Given the description of an element on the screen output the (x, y) to click on. 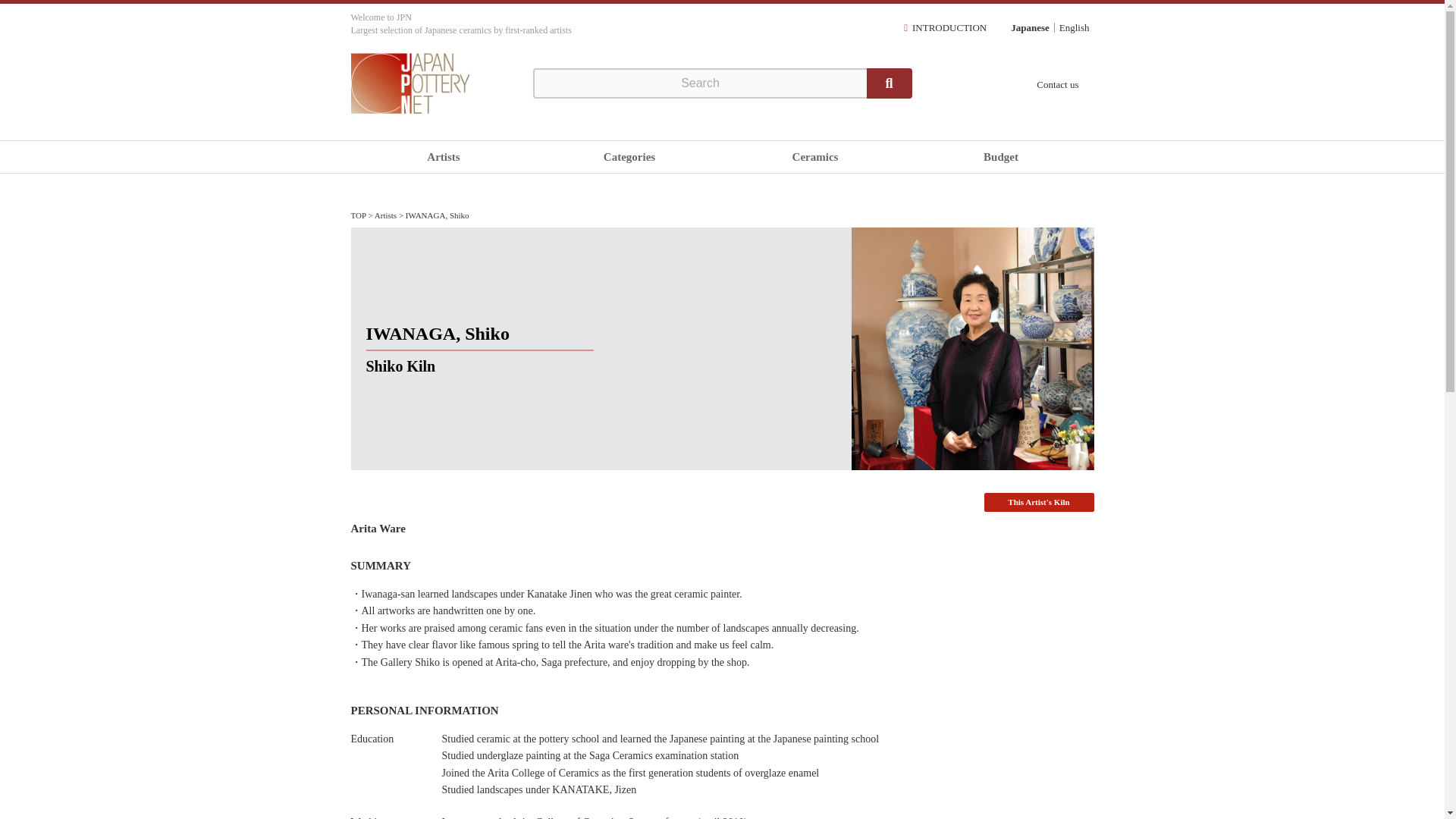
English (1074, 27)
Japanese (1030, 27)
INTRODUCTION (949, 27)
Contact us (1057, 84)
